Given the description of an element on the screen output the (x, y) to click on. 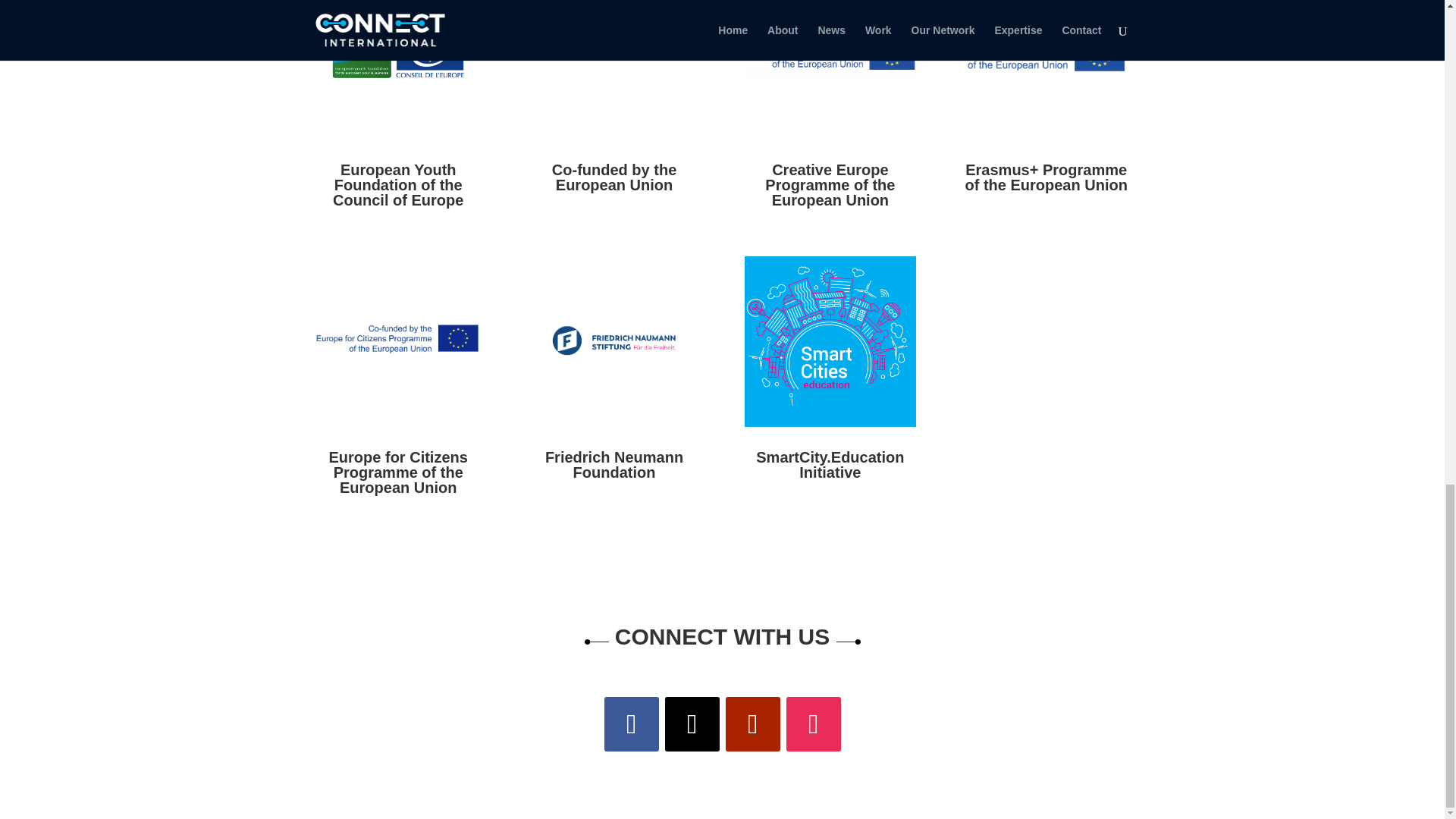
Follow on X (691, 723)
Follow on Instagram (813, 723)
Screen-Shot-2019-04-27-at-22.49.16 (613, 341)
CE (829, 69)
EYF COE (398, 69)
Screen-Shot-2019-01-31-at-12.22.32 (398, 341)
euuu (613, 69)
e (1045, 69)
Follow on Youtube (751, 723)
Follow on Facebook (631, 723)
